Given the description of an element on the screen output the (x, y) to click on. 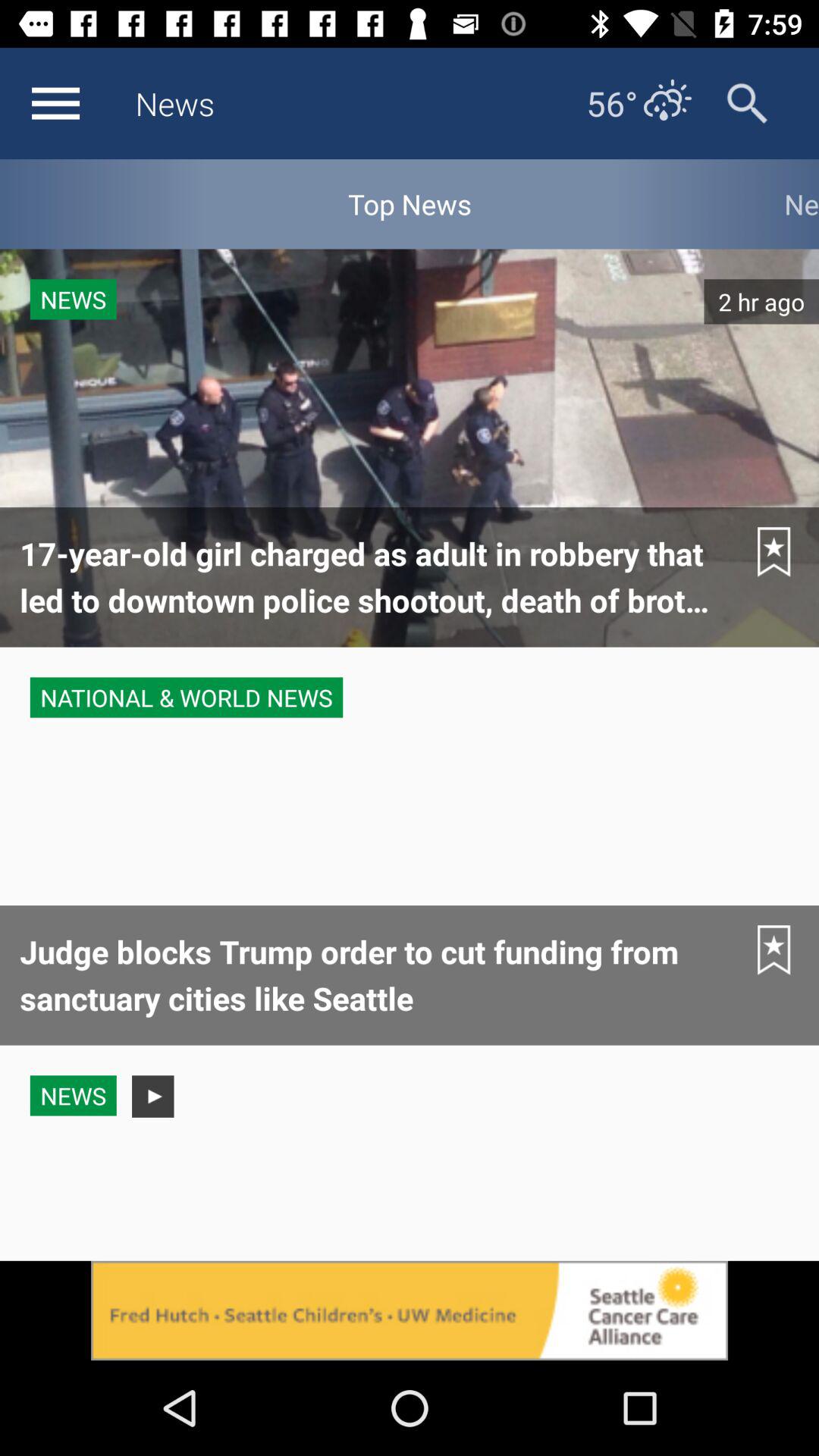
click on the menu on top left (56, 103)
